Given the description of an element on the screen output the (x, y) to click on. 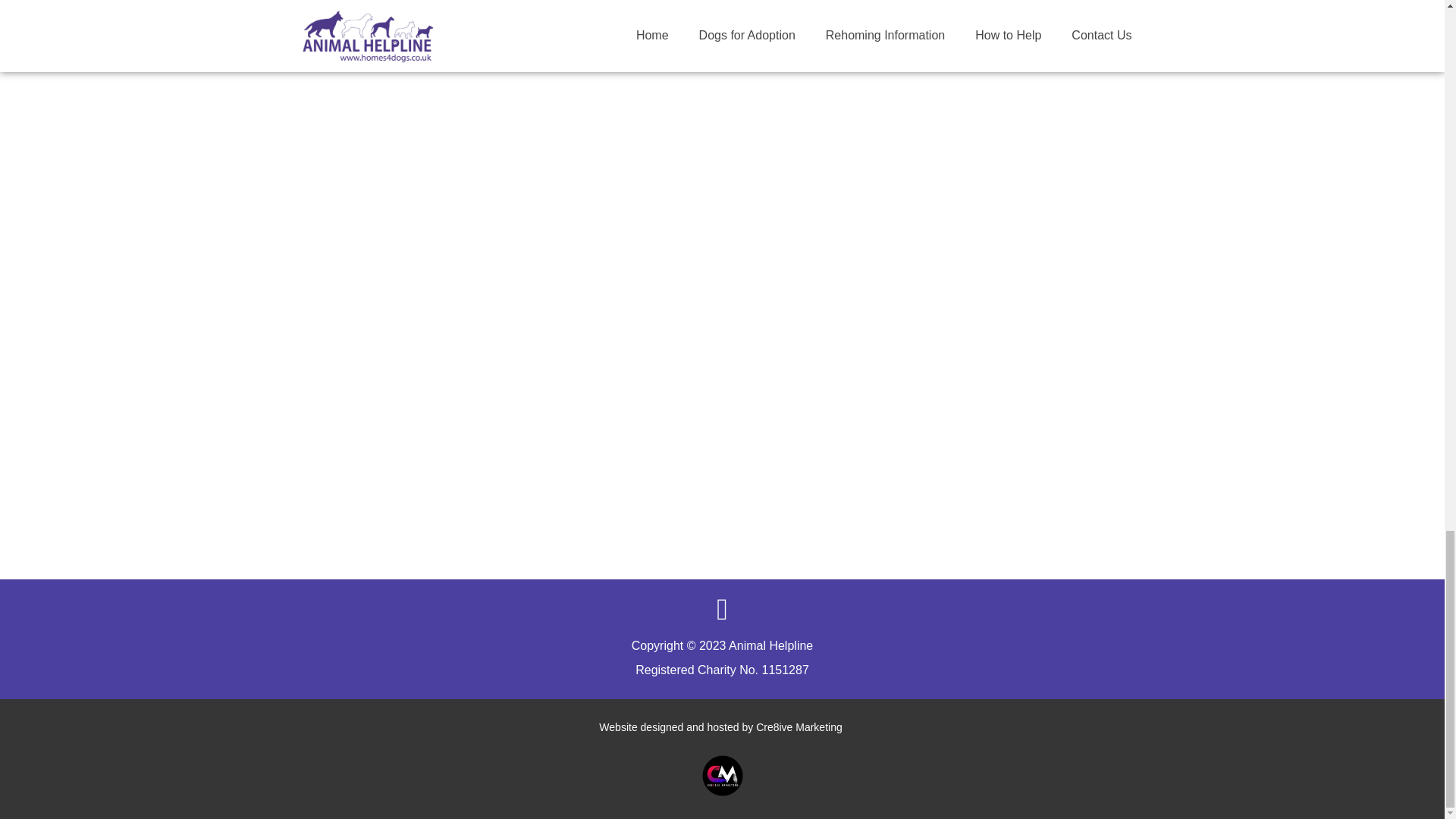
Website designed and hosted by Cre8ive Marketing  (721, 727)
Facebook (721, 609)
